Given the description of an element on the screen output the (x, y) to click on. 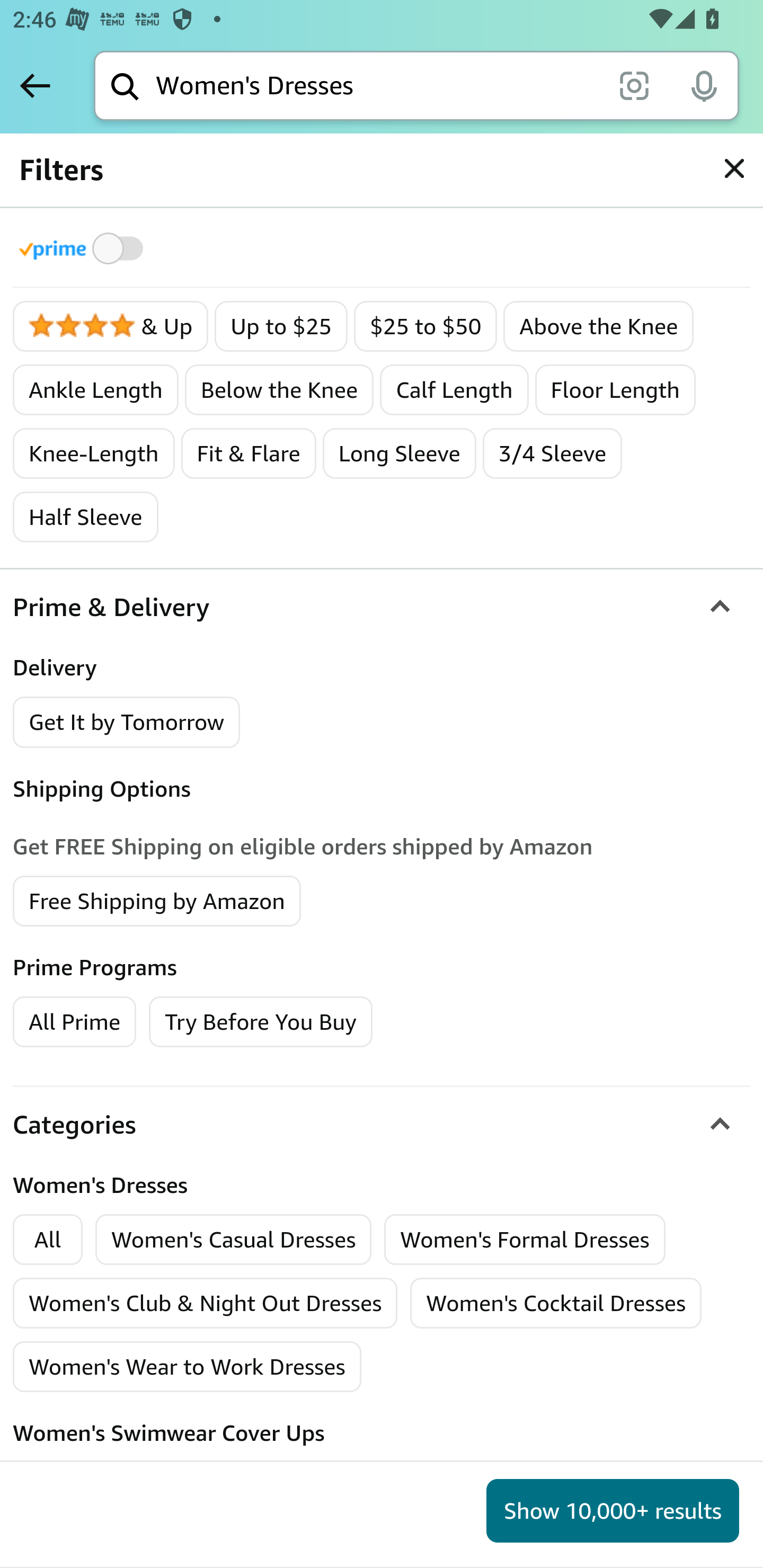
Back (35, 85)
scan it (633, 85)
Toggle to filter by Prime products Prime Eligible (83, 247)
4 Stars & Up (110, 326)
Up to $25 (280, 326)
$25 to $50 (424, 326)
Above the Knee (598, 326)
Ankle Length (95, 390)
Below the Knee (279, 390)
Calf Length (454, 390)
Floor Length (614, 390)
Knee-Length (93, 453)
Fit & Flare (247, 453)
Long Sleeve (398, 453)
3/4 Sleeve (552, 453)
Half Sleeve (85, 517)
Prime & Delivery (381, 607)
Get It by Tomorrow (126, 721)
Free Shipping by Amazon (157, 899)
All Prime (74, 1020)
Try Before You Buy (260, 1020)
Categories (381, 1124)
All (47, 1239)
Women's Casual Dresses (233, 1239)
Women's Formal Dresses (524, 1239)
Women's Club & Night Out Dresses (205, 1303)
Women's Cocktail Dresses (556, 1303)
Women's Wear to Work Dresses (187, 1366)
Show 10,000+ results (612, 1510)
